Given the description of an element on the screen output the (x, y) to click on. 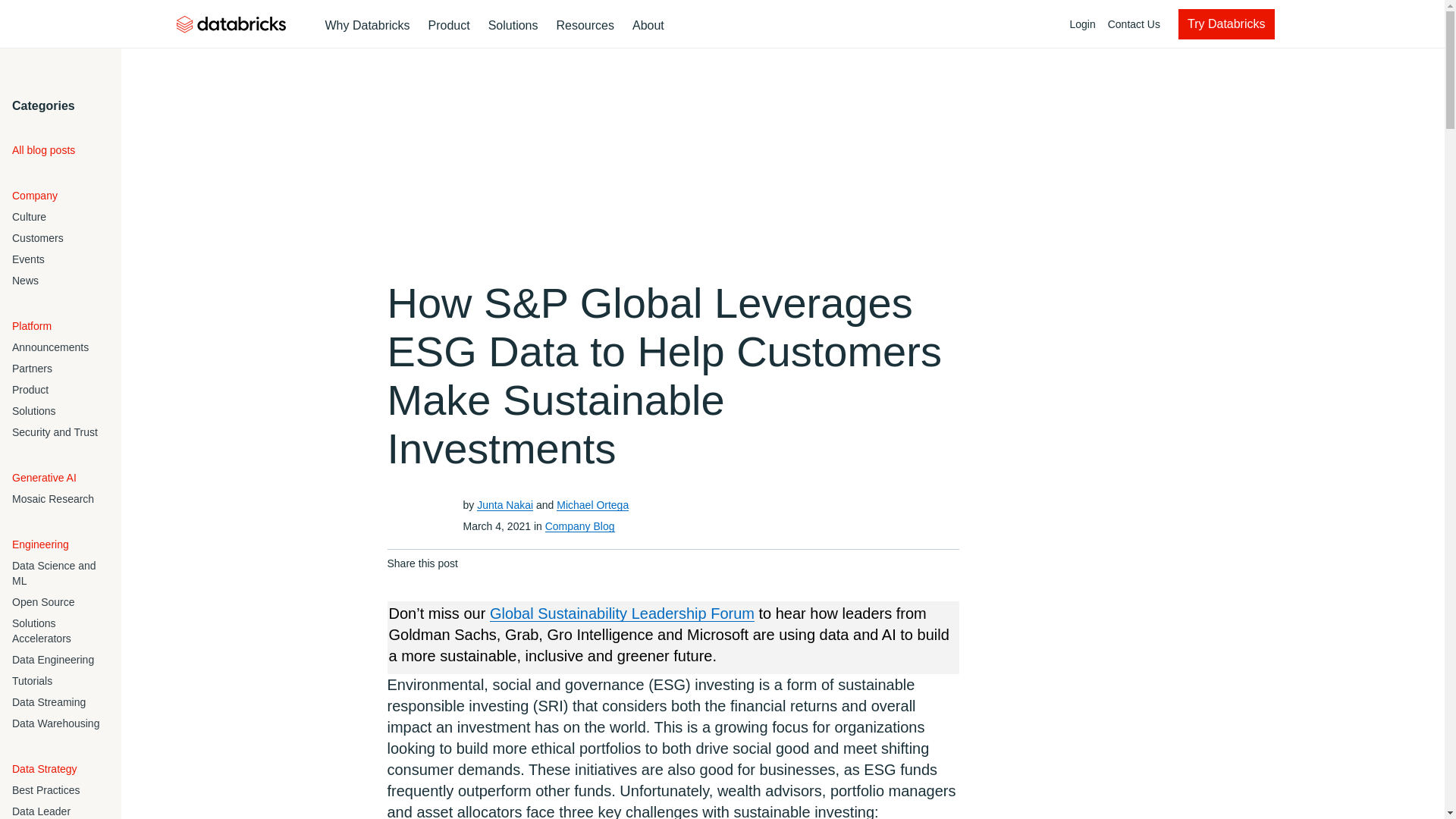
Solutions (680, 23)
Why Databricks (513, 25)
Product (367, 25)
